Given the description of an element on the screen output the (x, y) to click on. 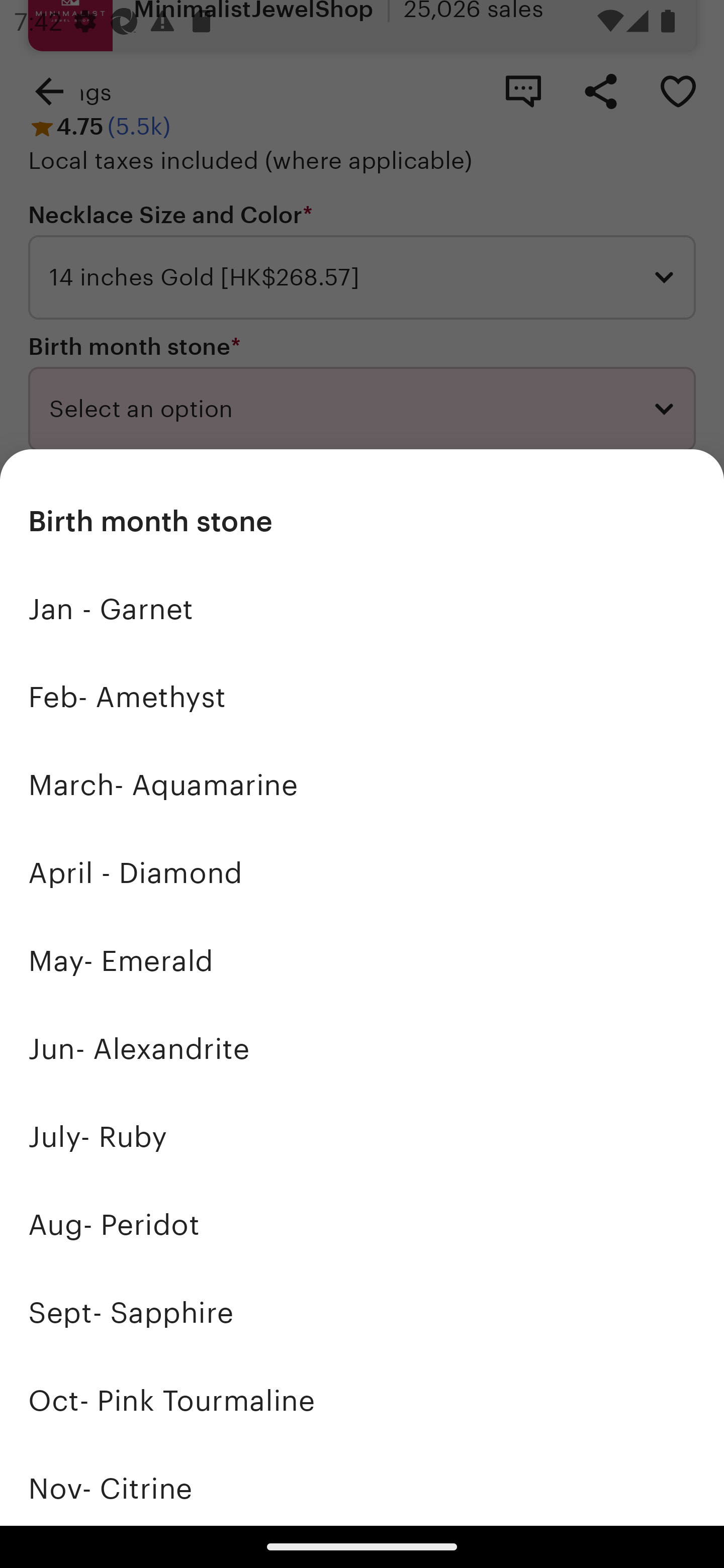
Jan - Garnet (362, 609)
Feb- Amethyst (362, 697)
March- Aquamarine (362, 785)
April - Diamond (362, 873)
May- Emerald (362, 961)
Jun- Alexandrite (362, 1048)
July- Ruby (362, 1136)
Aug- Peridot (362, 1224)
Sept- Sapphire (362, 1312)
Oct- Pink Tourmaline (362, 1400)
Nov- Citrine (362, 1484)
